Given the description of an element on the screen output the (x, y) to click on. 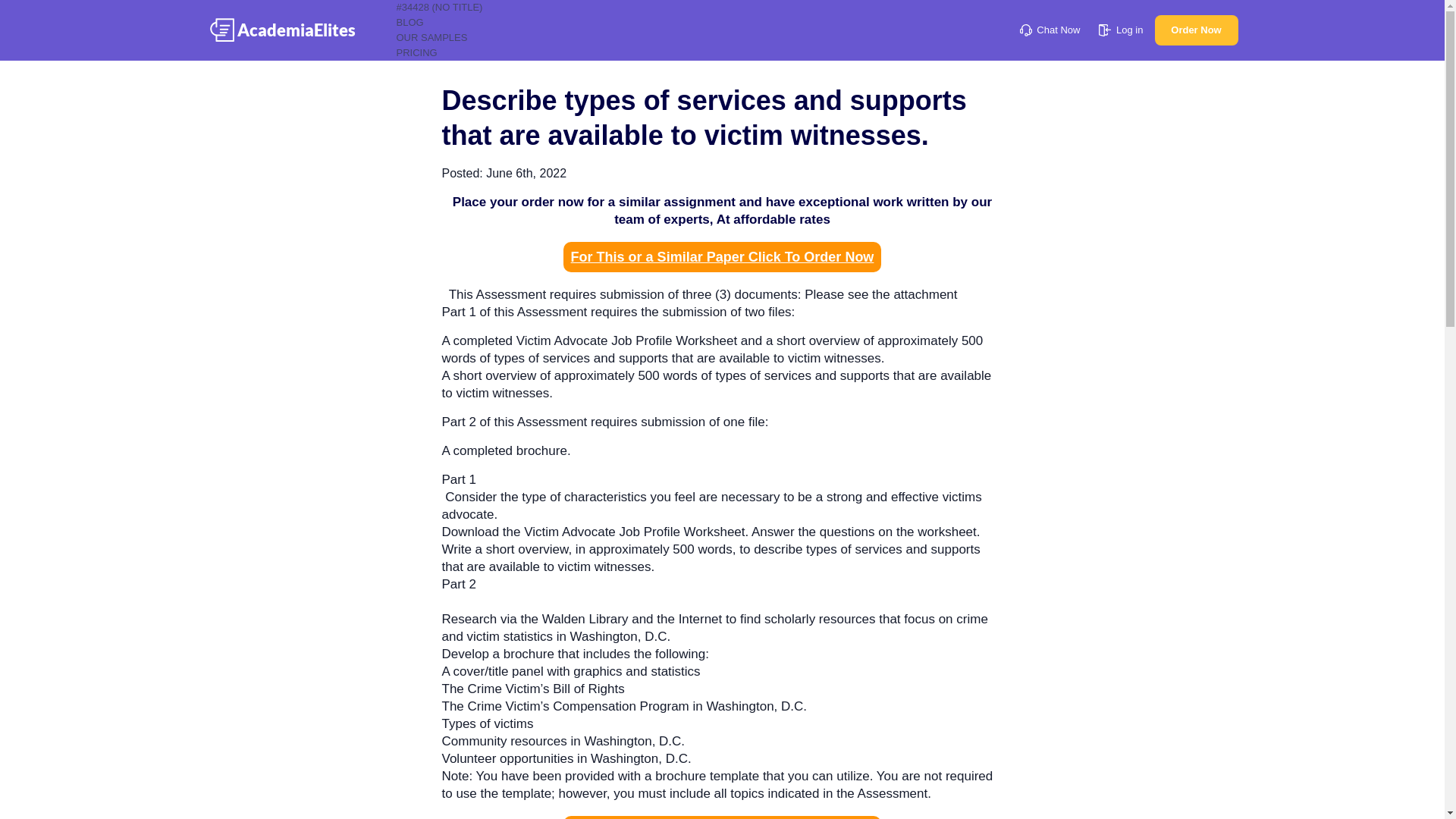
For This or a Similar Paper Click To Order Now (722, 256)
Chat Now (1050, 30)
PRICING (416, 52)
Order Now (1195, 30)
Log in (1120, 30)
OUR SAMPLES (431, 37)
BLOG (409, 21)
